Given the description of an element on the screen output the (x, y) to click on. 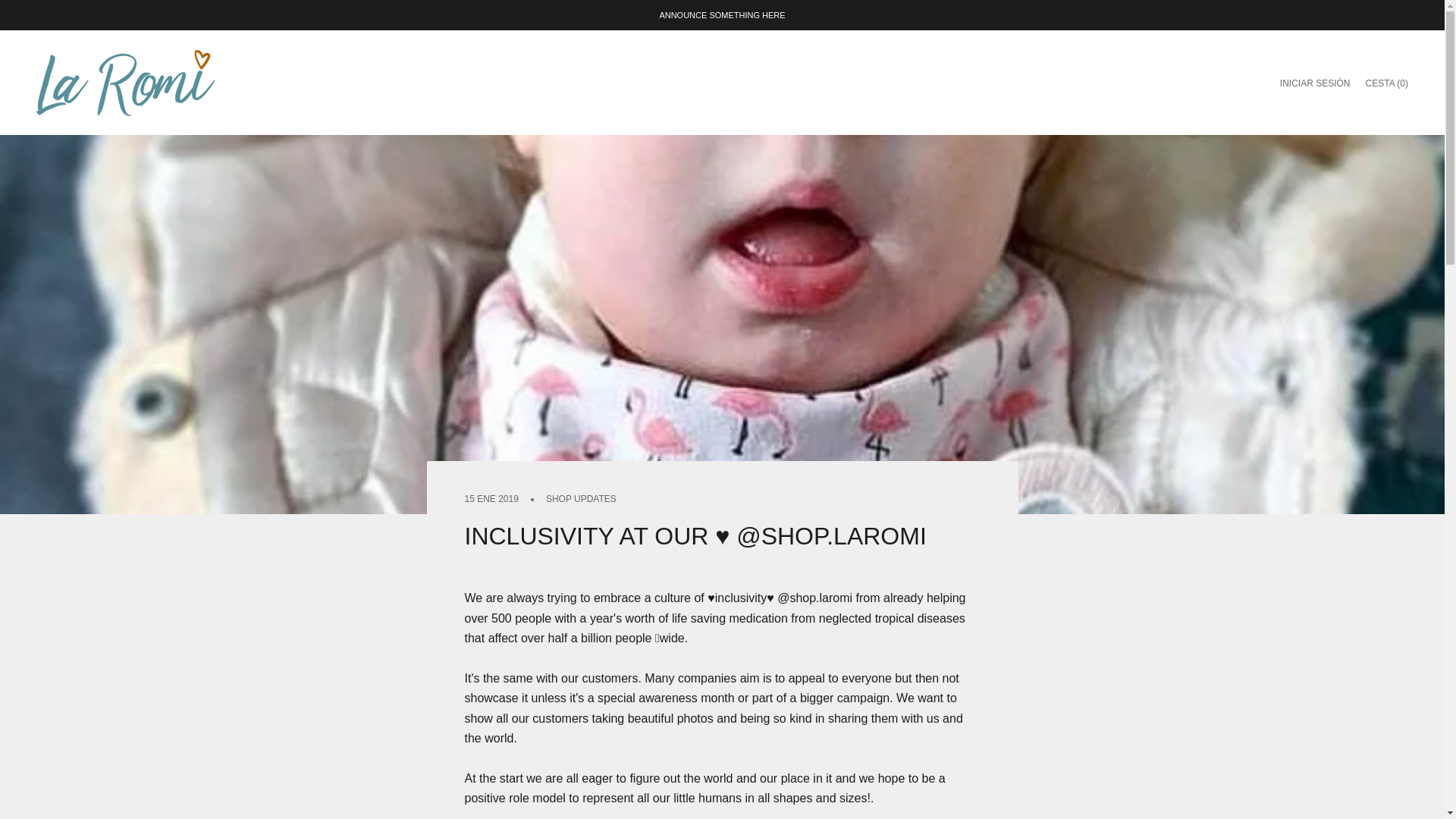
SHOP UPDATES (580, 498)
La Romi (125, 82)
